Given the description of an element on the screen output the (x, y) to click on. 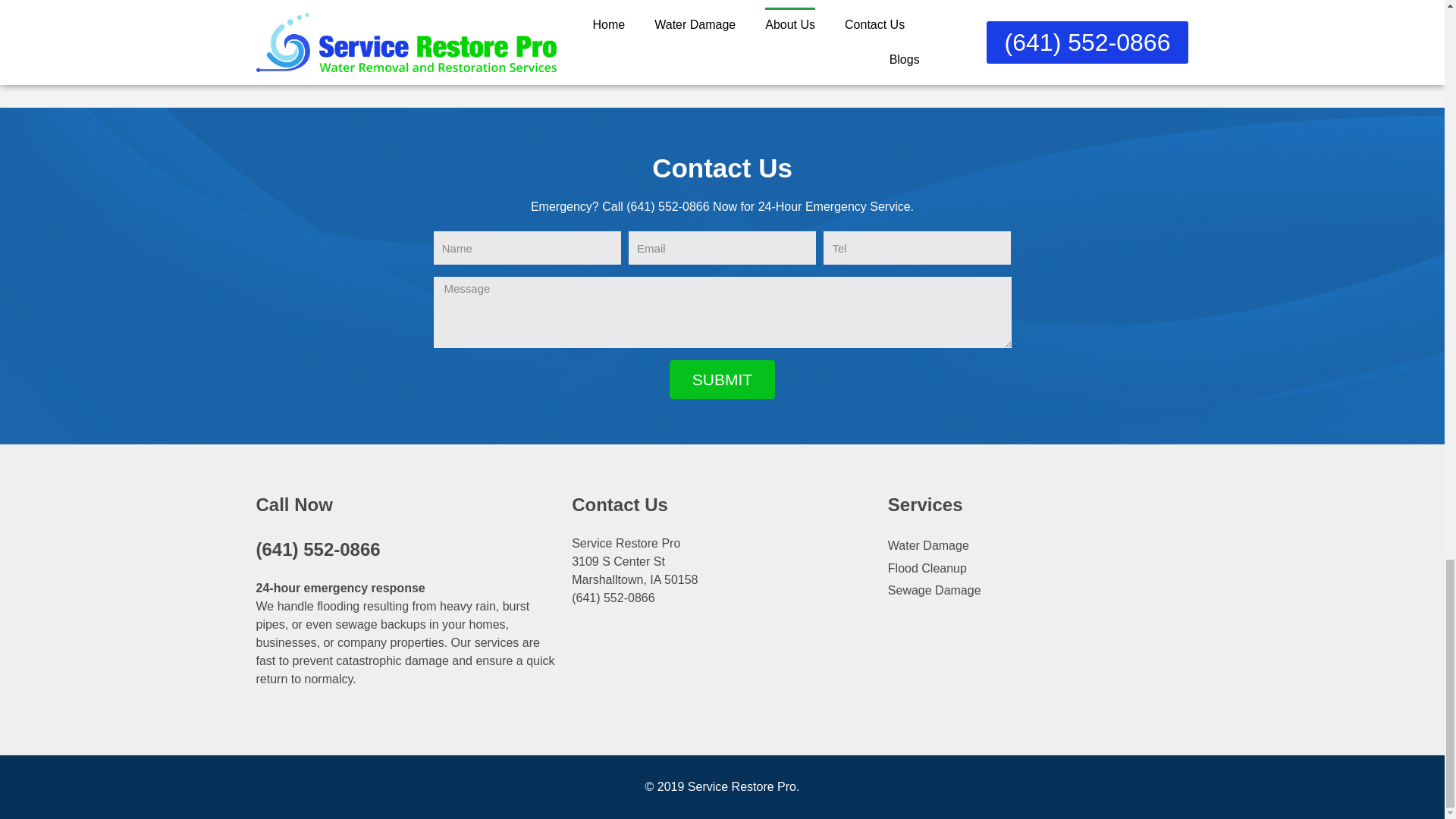
Sewage Damage (1038, 590)
Flood Cleanup (1038, 568)
Water Damage (1038, 545)
SUBMIT (721, 379)
